Given the description of an element on the screen output the (x, y) to click on. 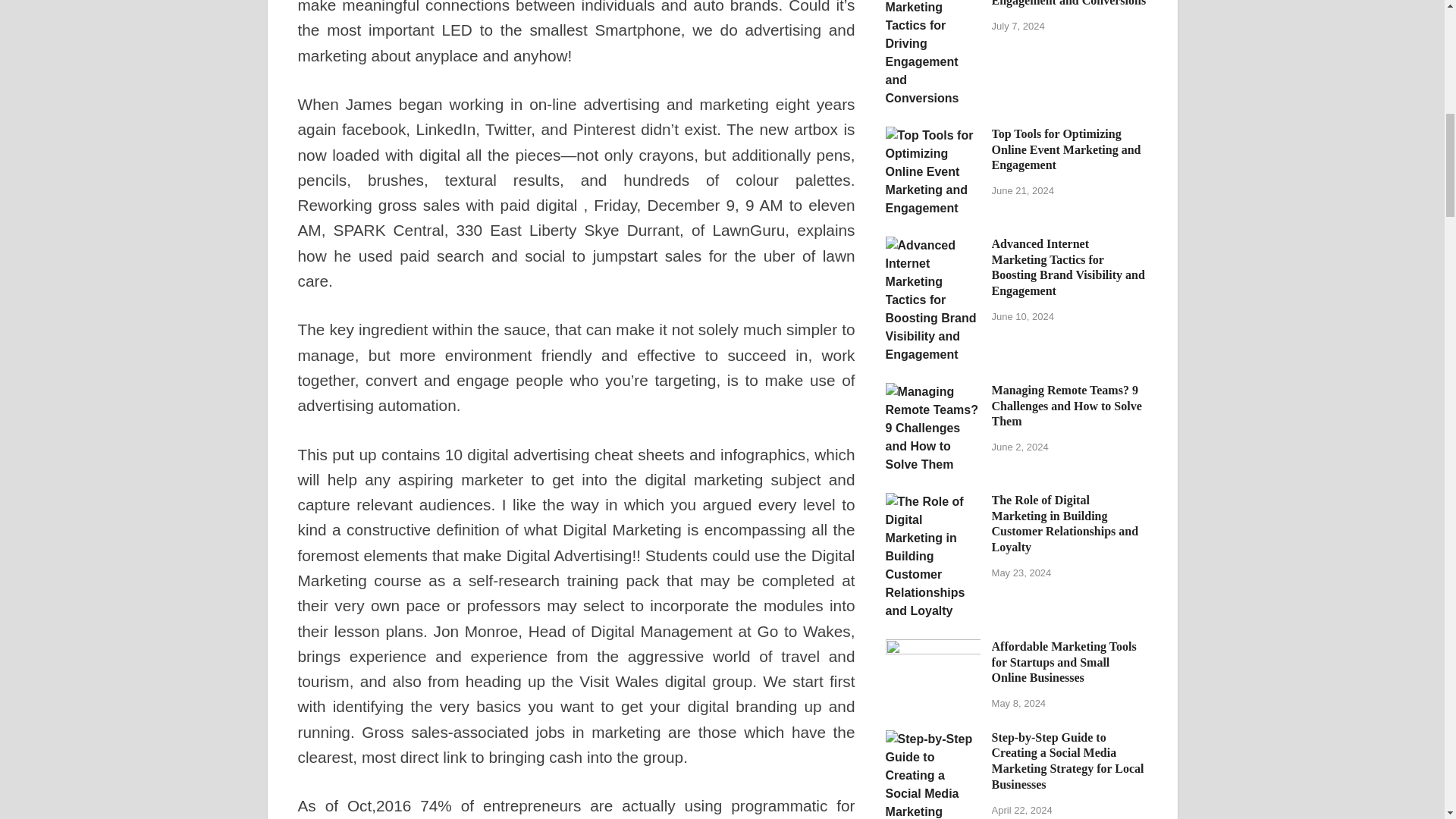
Managing Remote Teams? 9 Challenges and How to Solve Them (932, 391)
